Given the description of an element on the screen output the (x, y) to click on. 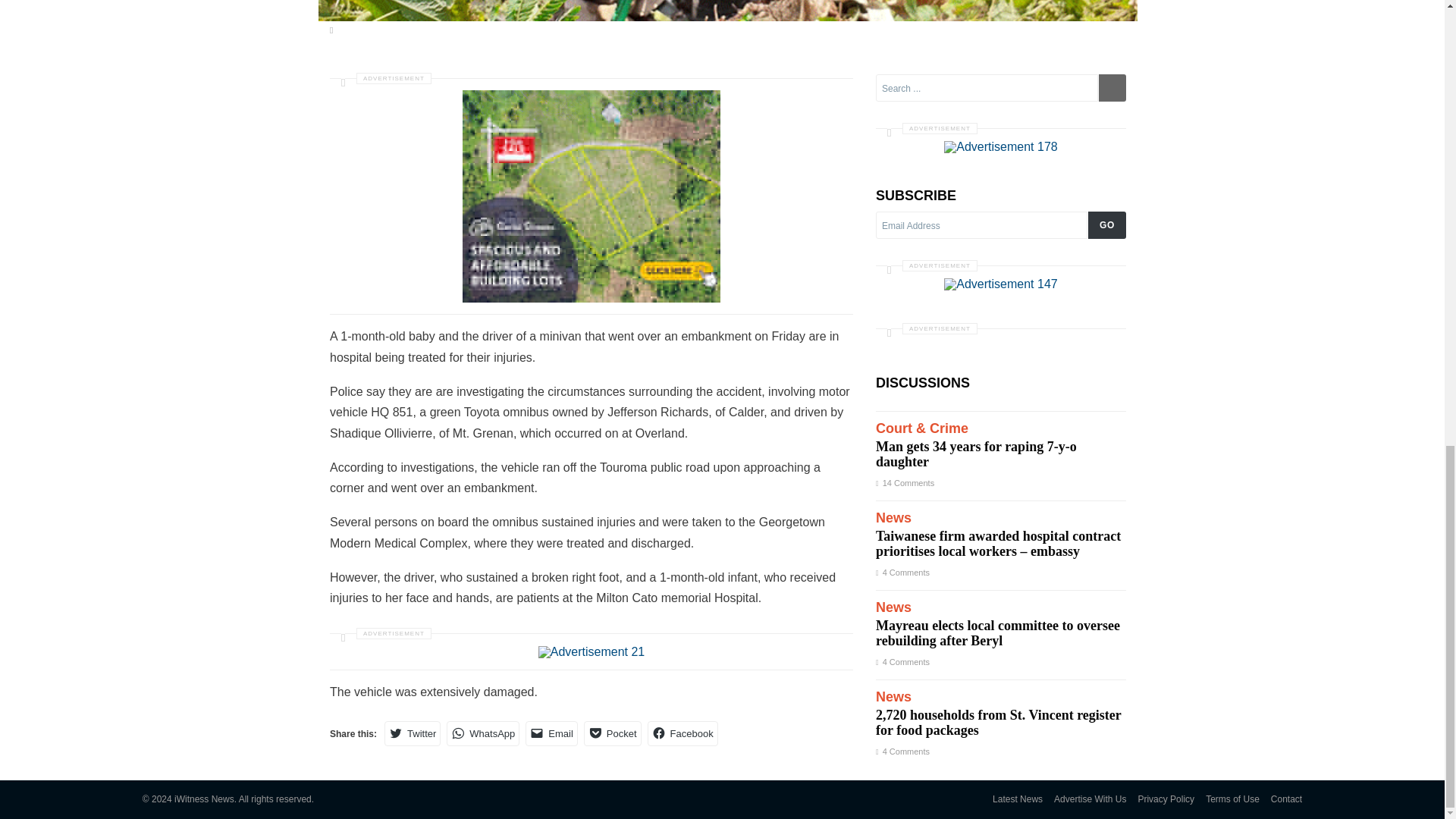
Click to email a link to a friend (551, 733)
Click to share on Facebook (682, 733)
Click to share on Pocket (612, 733)
Click to share on WhatsApp (482, 733)
Click to share on Twitter (412, 733)
Man gets 34 years for raping 7-y-o daughter (1000, 446)
Baby injured in Overland accident (727, 10)
Baby injured in Overland accident 1 (591, 652)
